Given the description of an element on the screen output the (x, y) to click on. 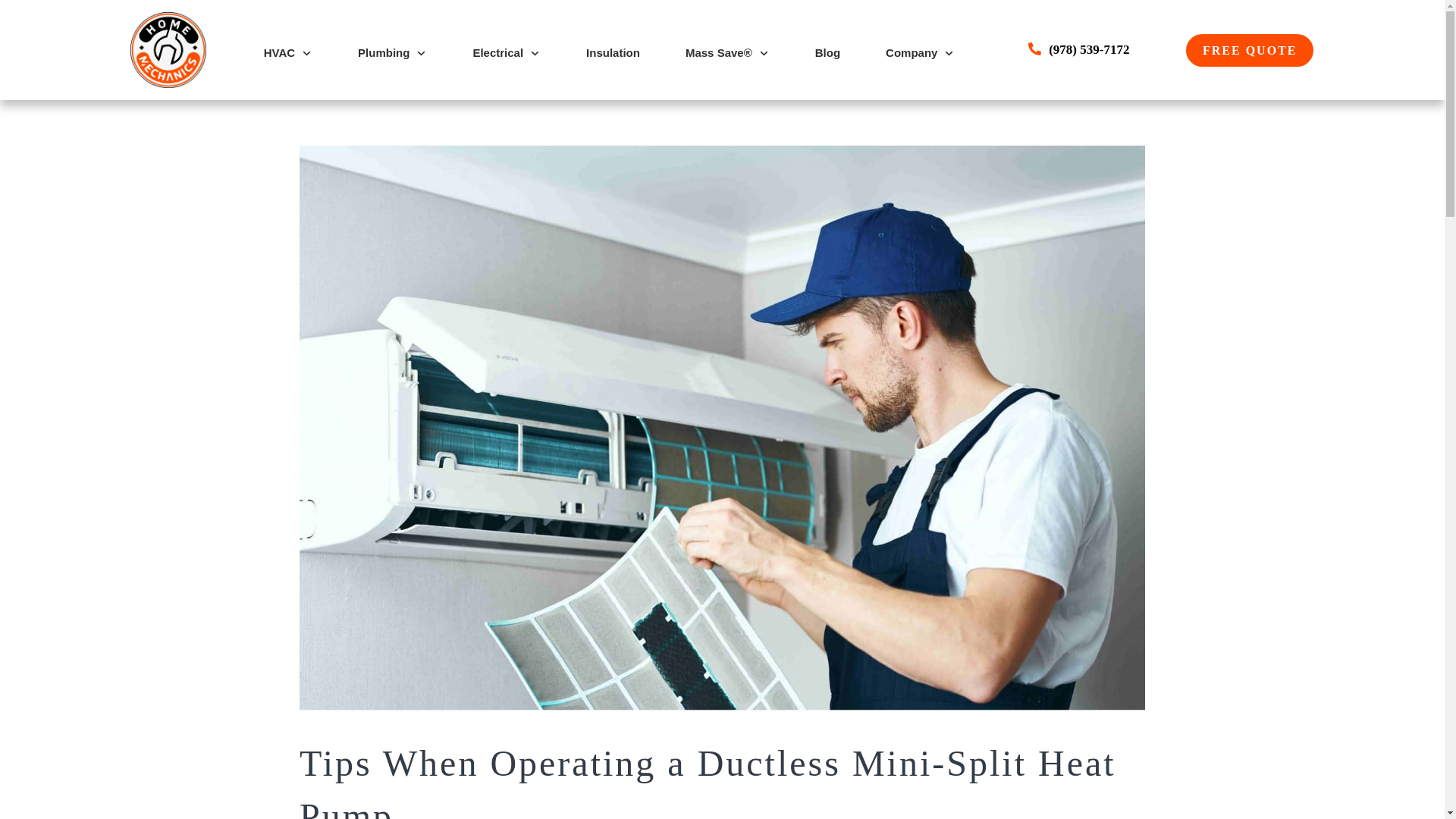
Blog (827, 52)
Insulation (613, 52)
Plumbing (392, 52)
HVAC (288, 52)
FREE QUOTE (1249, 50)
Company (920, 52)
Electrical (505, 52)
